Given the description of an element on the screen output the (x, y) to click on. 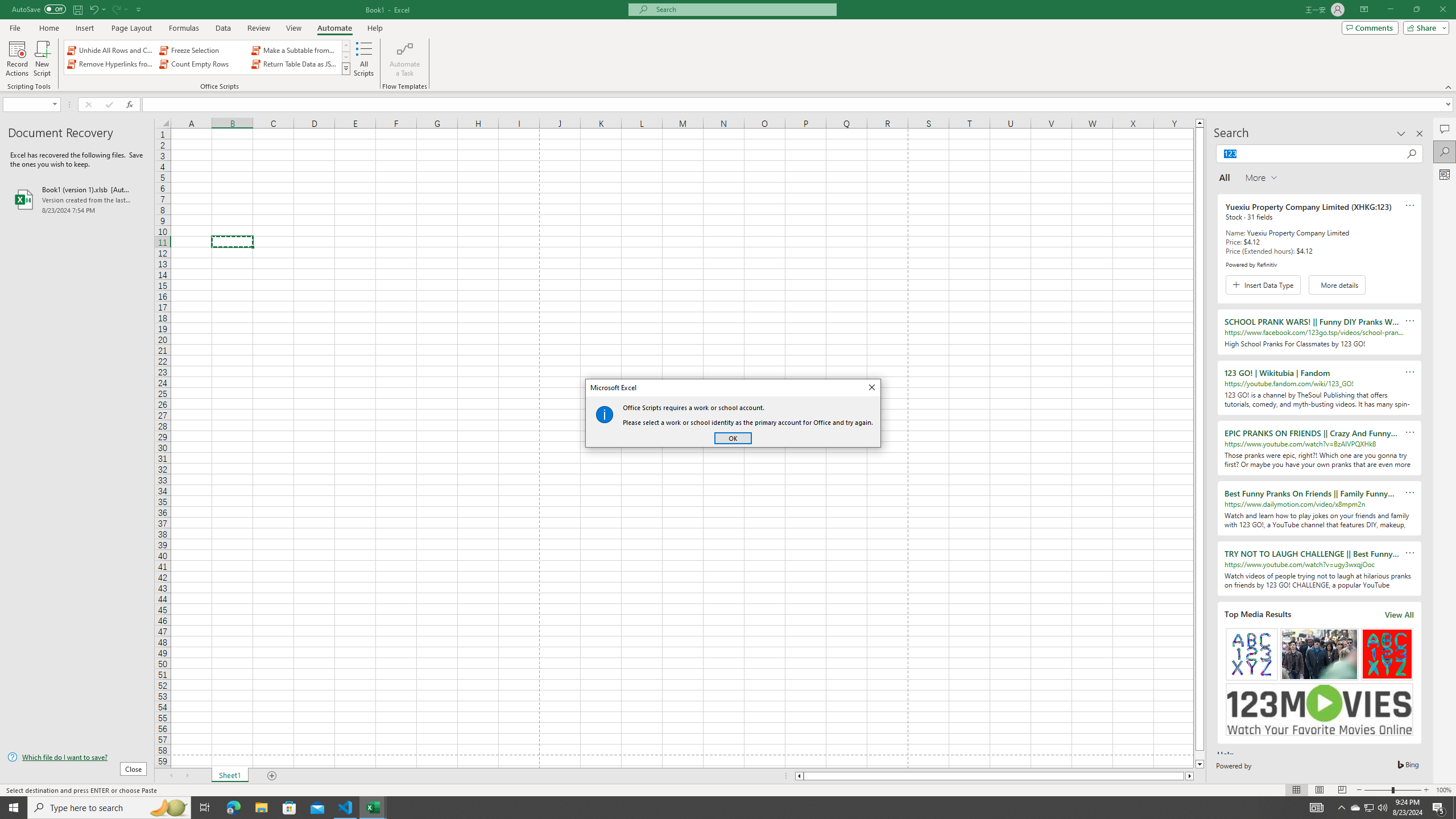
Return Table Data as JSON (294, 64)
Class: Static (603, 414)
AutomationID: OfficeScriptsGallery (207, 57)
Excel - 2 running windows (373, 807)
File Explorer (261, 807)
